Given the description of an element on the screen output the (x, y) to click on. 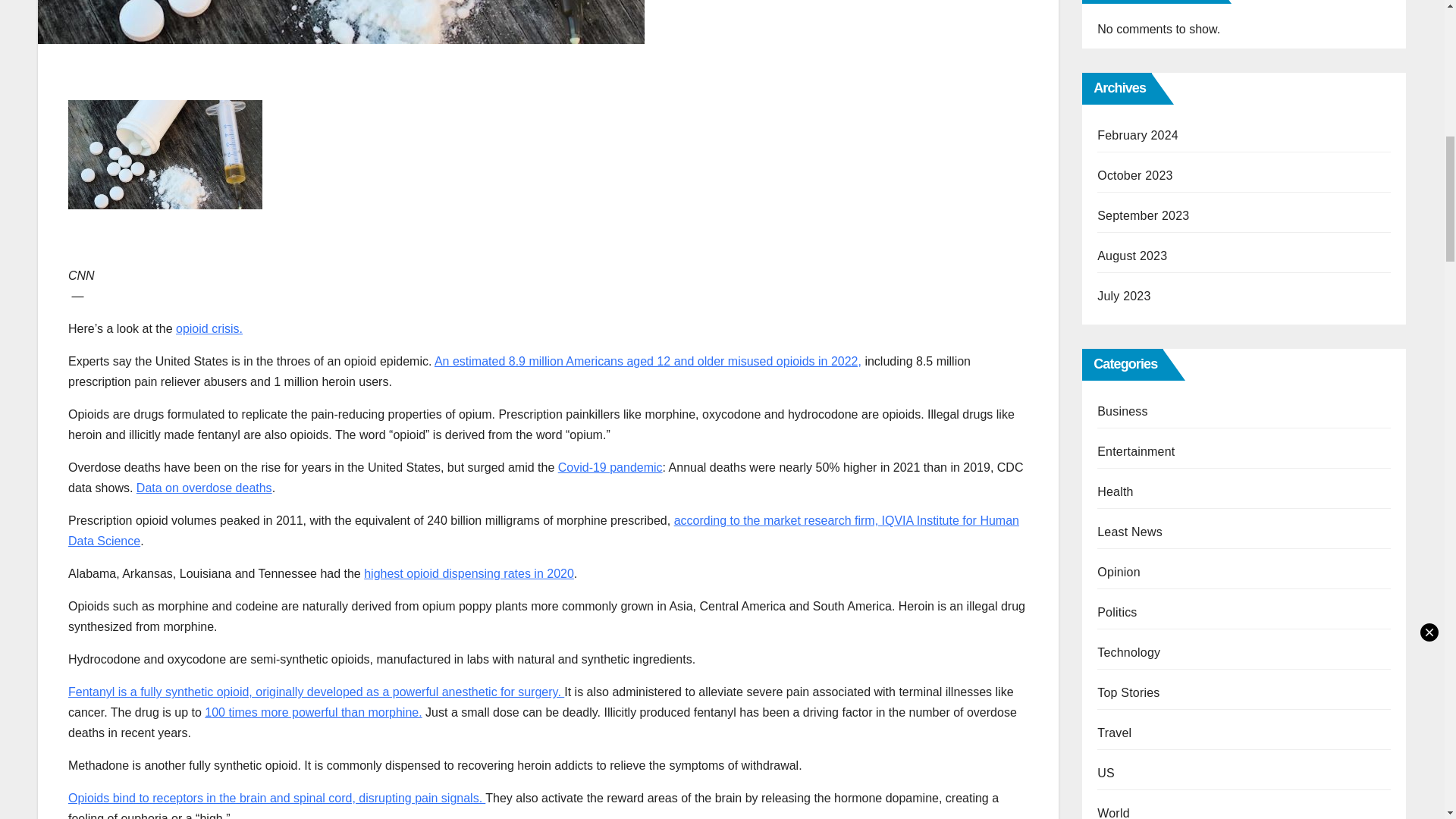
highest opioid dispensing rates in 2020 (468, 573)
100 times more powerful than morphine. (313, 712)
Data on overdose deaths (204, 487)
Covid-19 pandemic (609, 467)
opioid crisis. (209, 328)
